Given the description of an element on the screen output the (x, y) to click on. 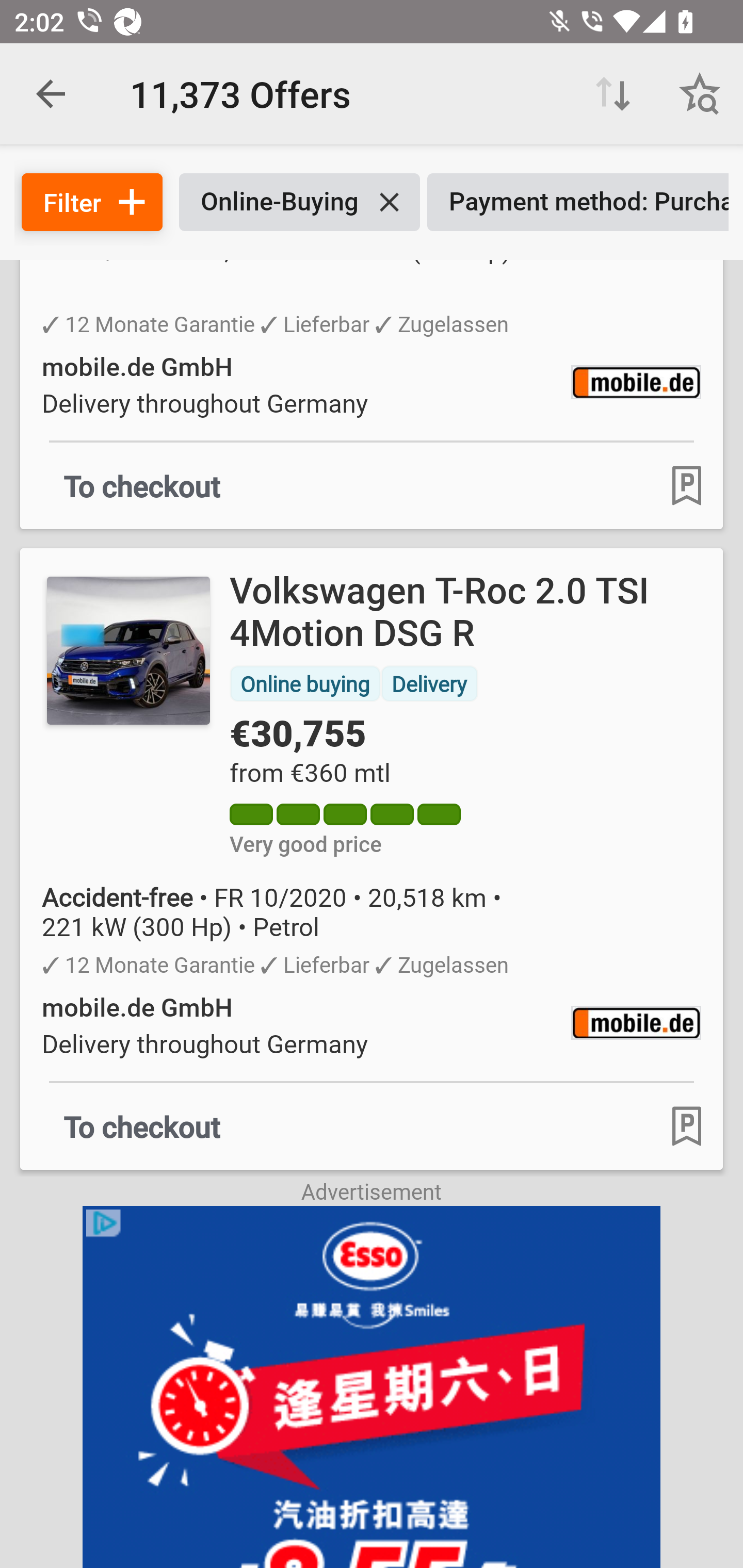
Navigate up (50, 93)
Sort options (612, 93)
Save search (699, 93)
Online-Buying Remove Online-Buying (299, 202)
Payment method: Purchase (577, 202)
Filter (91, 202)
To checkout (142, 485)
To checkout (142, 1125)
m2d01ngf_320x480 (371, 1386)
